Given the description of an element on the screen output the (x, y) to click on. 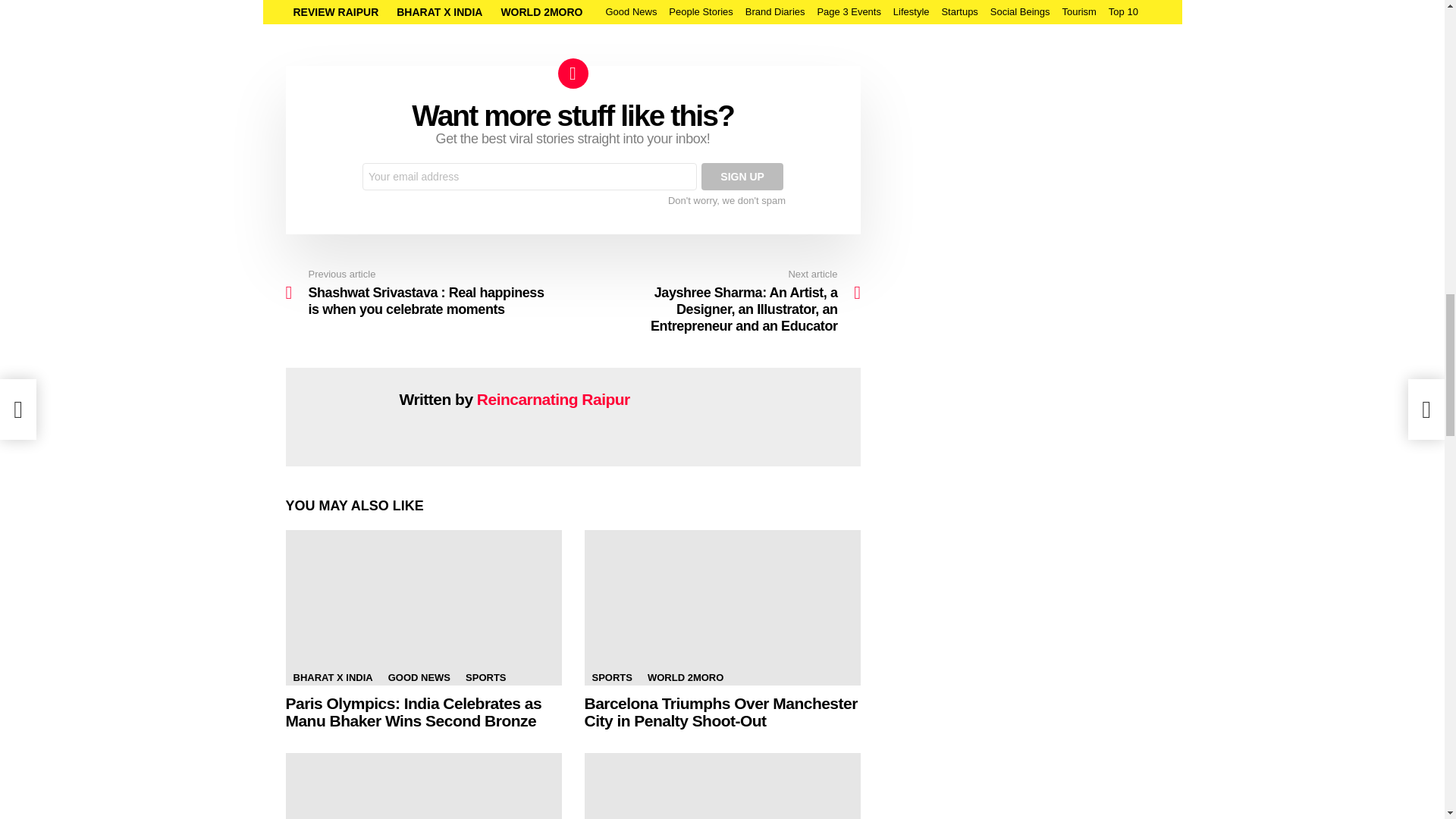
sign Up (742, 176)
